Given the description of an element on the screen output the (x, y) to click on. 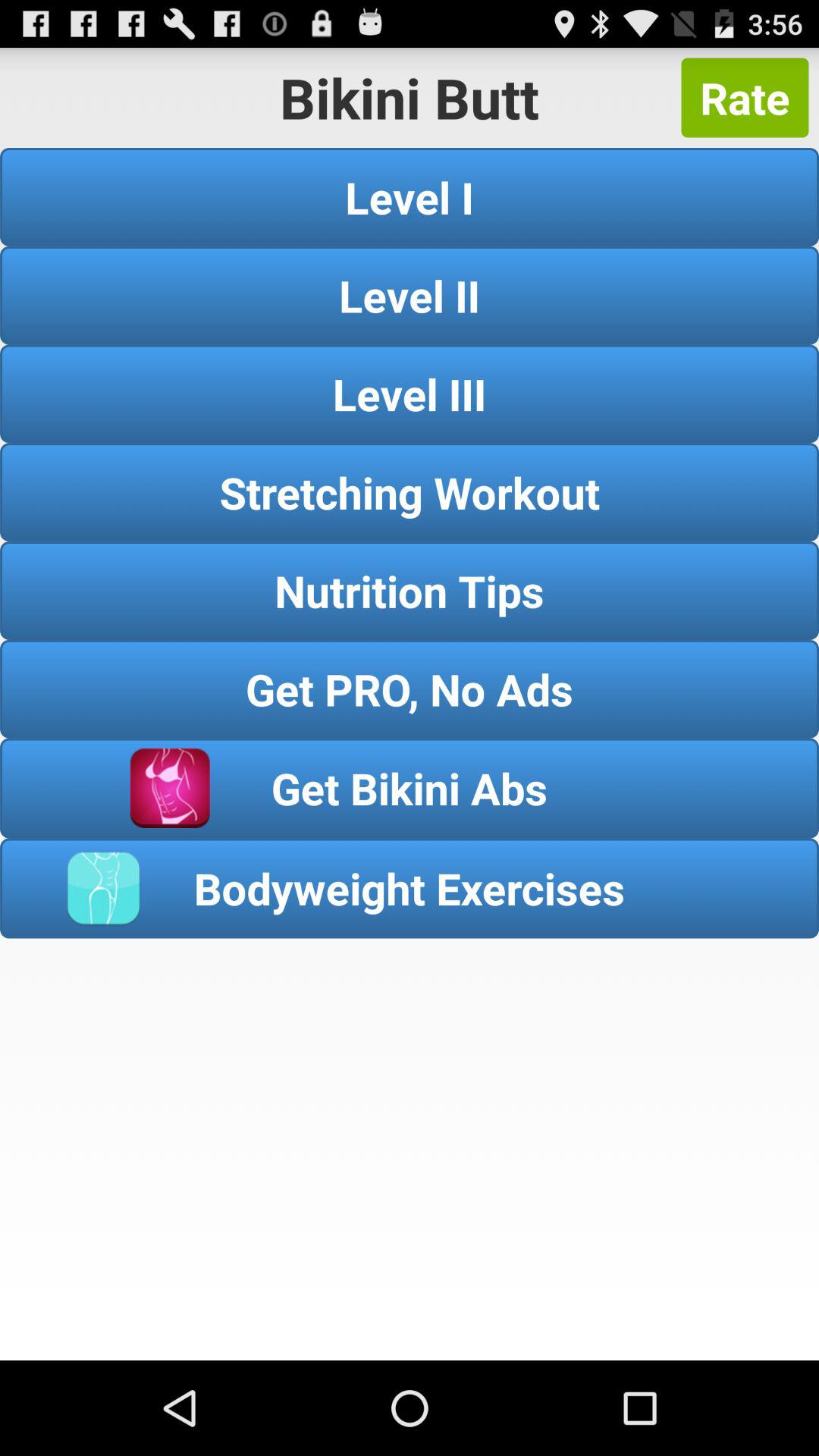
click rate item (744, 97)
